Given the description of an element on the screen output the (x, y) to click on. 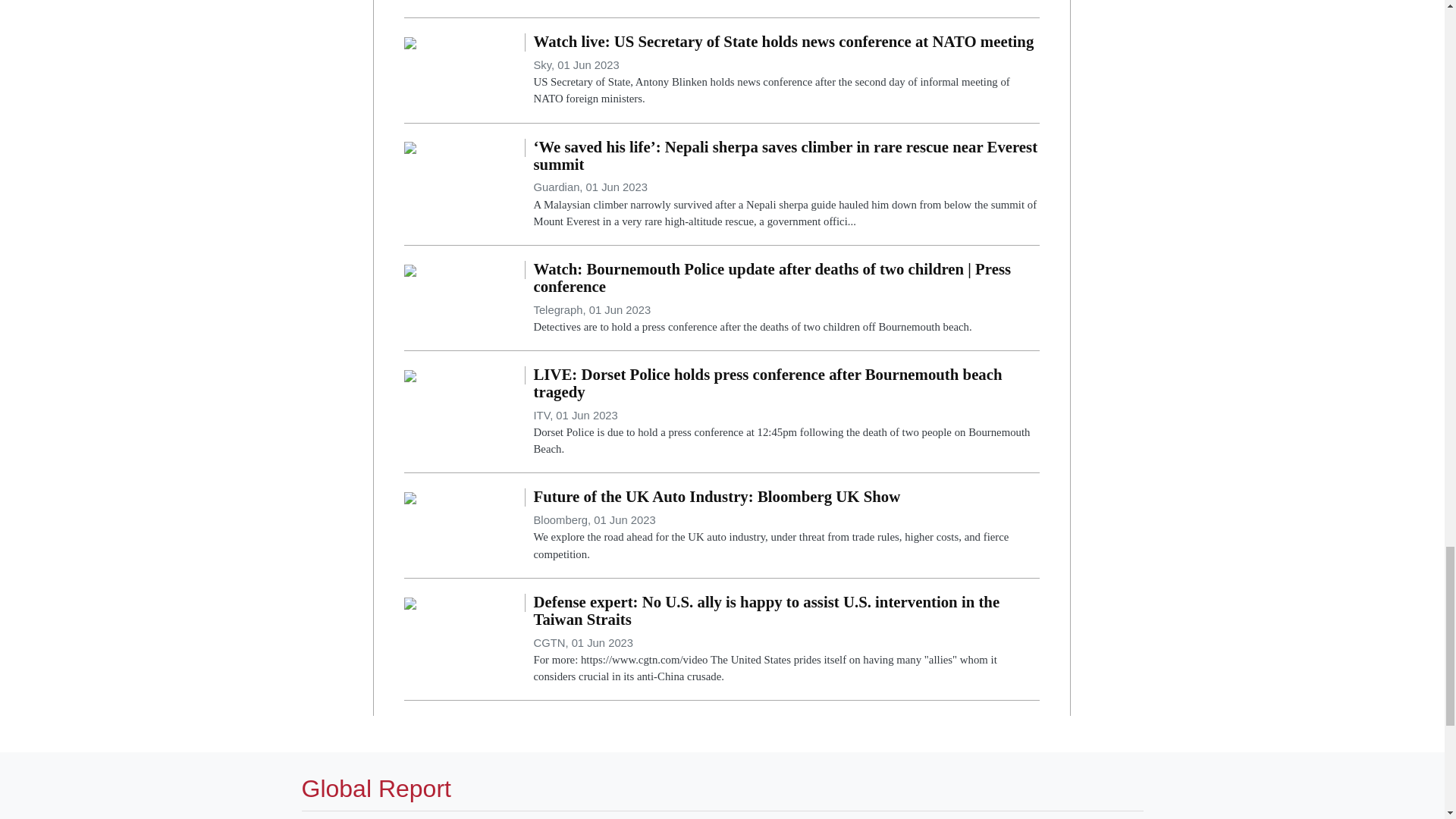
Future of the UK Auto Industry: Bloomberg UK Show (785, 524)
Future of the UK Auto Industry: Bloomberg UK Show (410, 496)
